Given the description of an element on the screen output the (x, y) to click on. 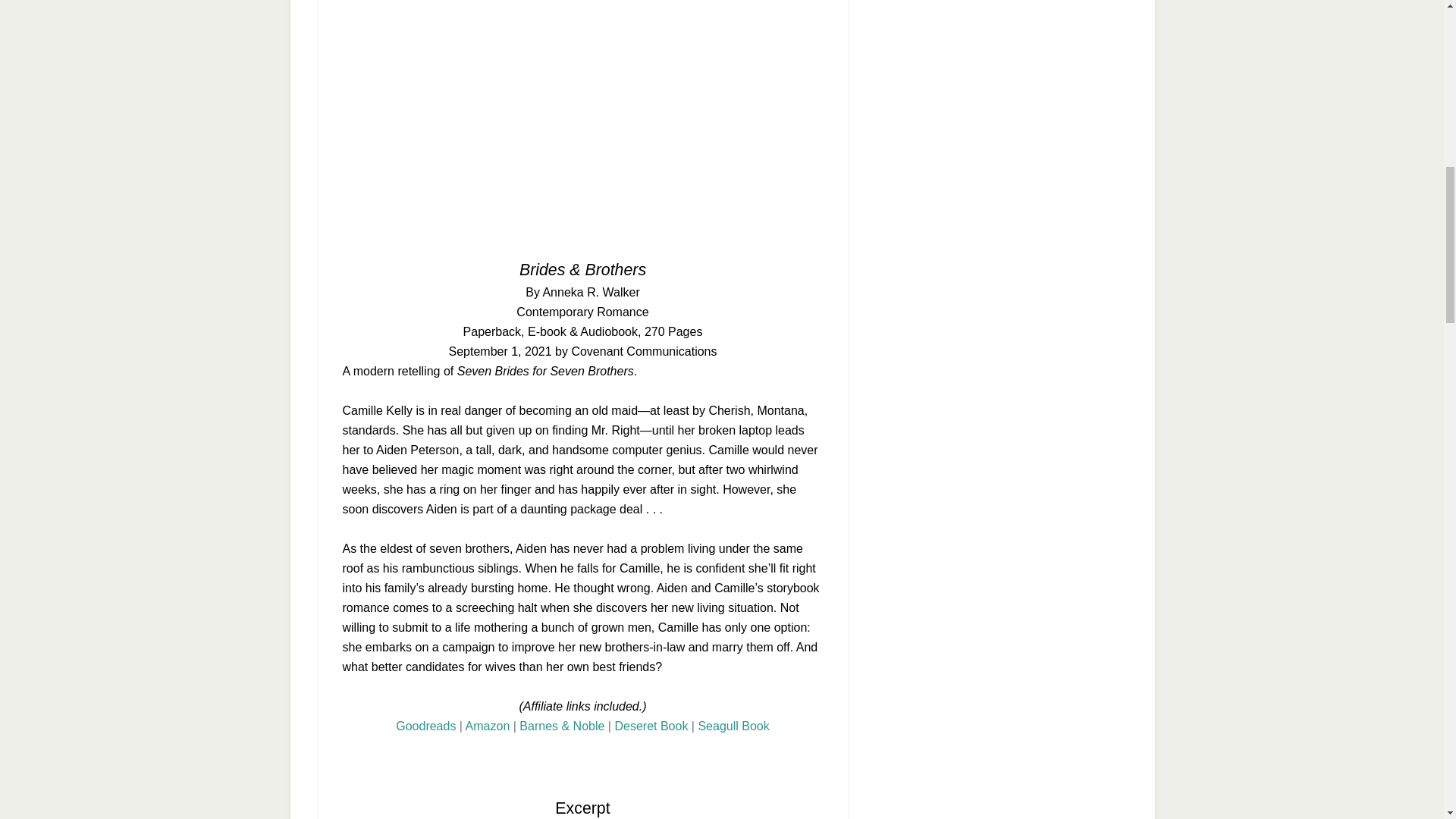
Goodreads (425, 725)
Amazon (488, 725)
Seagull Book (732, 725)
Deseret Book (650, 725)
